Given the description of an element on the screen output the (x, y) to click on. 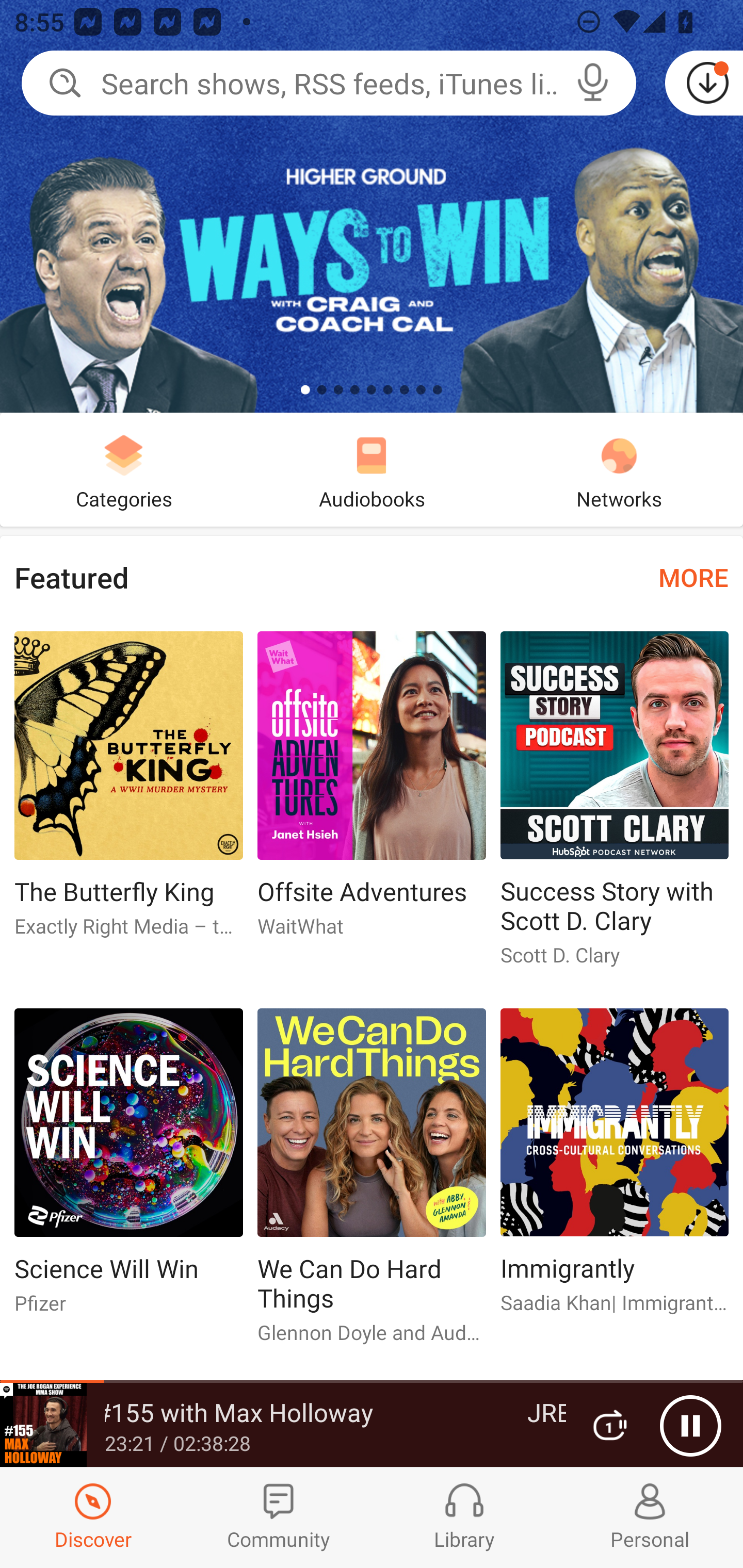
Ways To Win (371, 206)
Categories (123, 469)
Audiobooks (371, 469)
Networks (619, 469)
MORE (693, 576)
Offsite Adventures Offsite Adventures WaitWhat (371, 792)
Science Will Win Science Will Win Pfizer (128, 1169)
Pause (690, 1425)
Discover (92, 1517)
Community (278, 1517)
Library (464, 1517)
Profiles and Settings Personal (650, 1517)
